Given the description of an element on the screen output the (x, y) to click on. 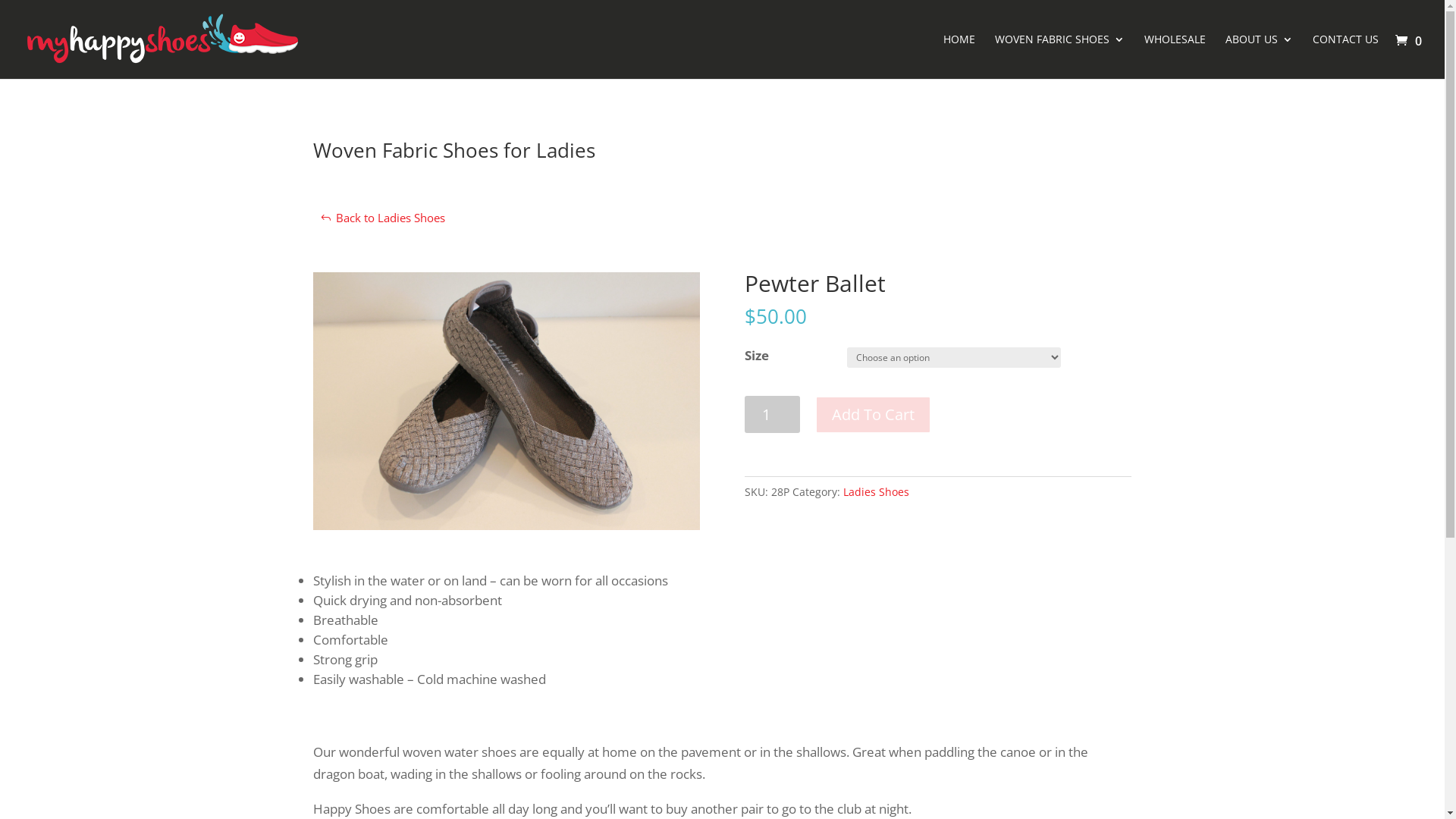
Ladies Shoes Element type: text (876, 491)
Pewter Ballet Element type: hover (505, 524)
Qty Element type: hover (772, 414)
Back to Ladies Shoes Element type: text (382, 218)
HOME Element type: text (959, 56)
Pewter Ballet Element type: hover (505, 401)
WHOLESALE Element type: text (1174, 56)
CONTACT US Element type: text (1345, 56)
WOVEN FABRIC SHOES Element type: text (1059, 56)
Add To Cart Element type: text (873, 414)
ABOUT US Element type: text (1258, 56)
